Given the description of an element on the screen output the (x, y) to click on. 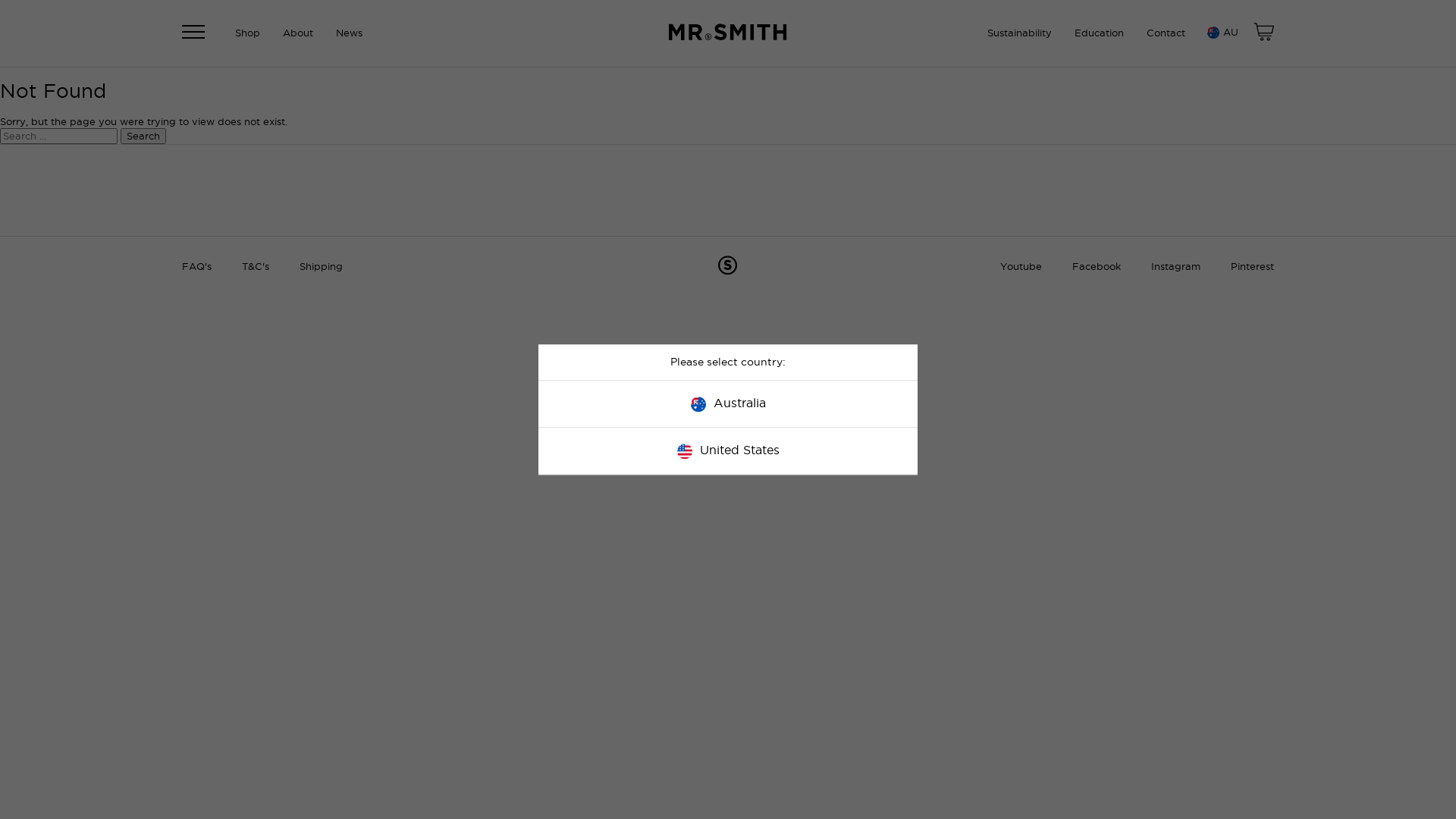
Youtube Element type: text (1020, 266)
AU Element type: text (1220, 32)
Shop Element type: text (247, 33)
Facebook Element type: text (1096, 266)
FAQ's Element type: text (196, 266)
T&C's Element type: text (255, 266)
Instagram Element type: text (1175, 266)
Sustainability Element type: text (1019, 33)
Australia Element type: text (727, 403)
Search Element type: text (143, 136)
Shipping Element type: text (320, 266)
About Element type: text (297, 33)
United States Element type: text (727, 450)
Education Element type: text (1098, 33)
News Element type: text (348, 33)
Pinterest Element type: text (1252, 266)
Contact Element type: text (1165, 33)
